Given the description of an element on the screen output the (x, y) to click on. 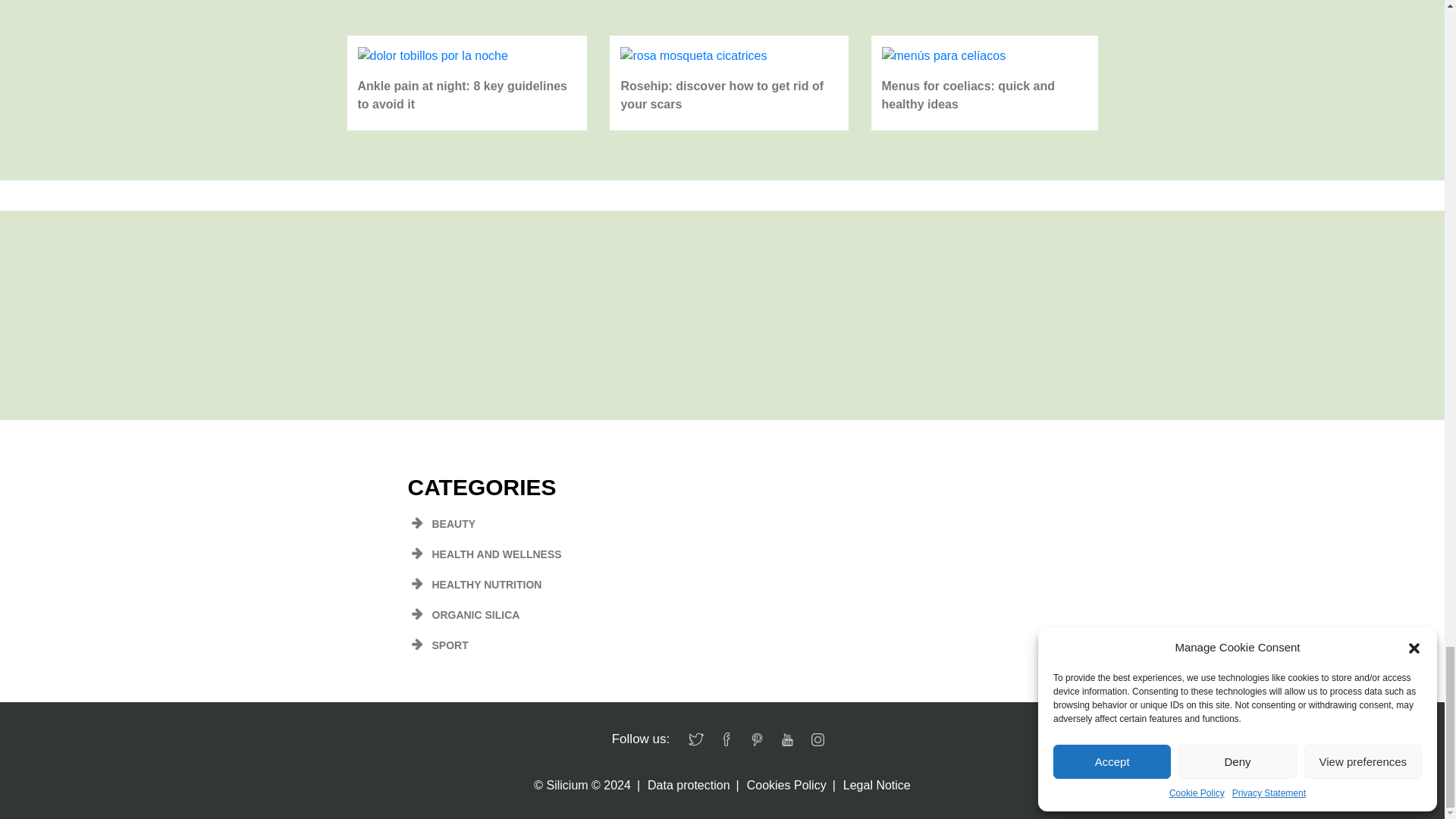
Rosehip: discover how to get rid of your scars (693, 55)
Form 0 (721, 307)
Menus for coeliacs: quick and healthy ideas (944, 55)
Ankle pain at night: 8 key guidelines to avoid it (433, 55)
